Given the description of an element on the screen output the (x, y) to click on. 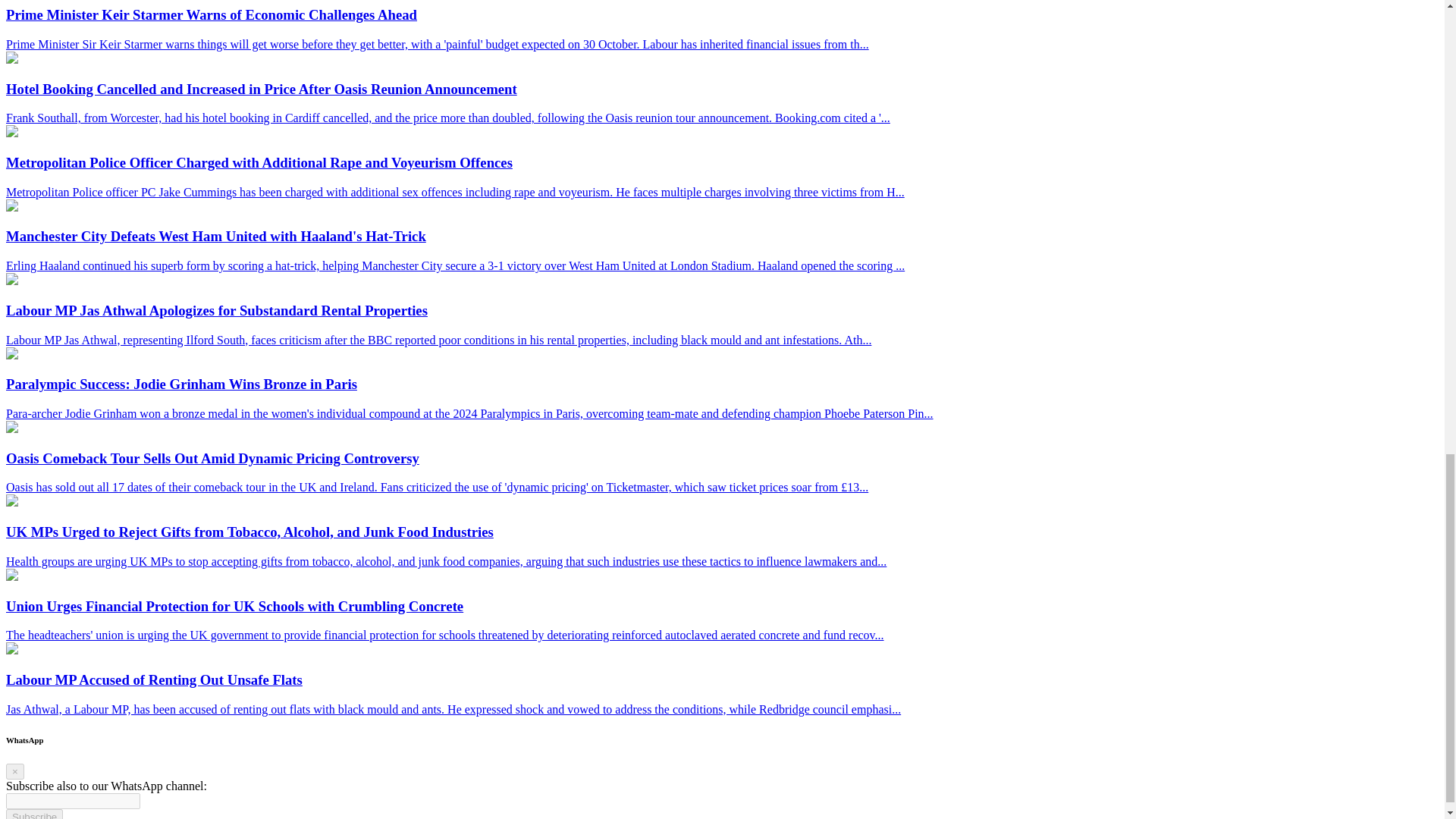
Paralympic Success: Jodie Grinham Wins Bronze in Paris (11, 354)
